Given the description of an element on the screen output the (x, y) to click on. 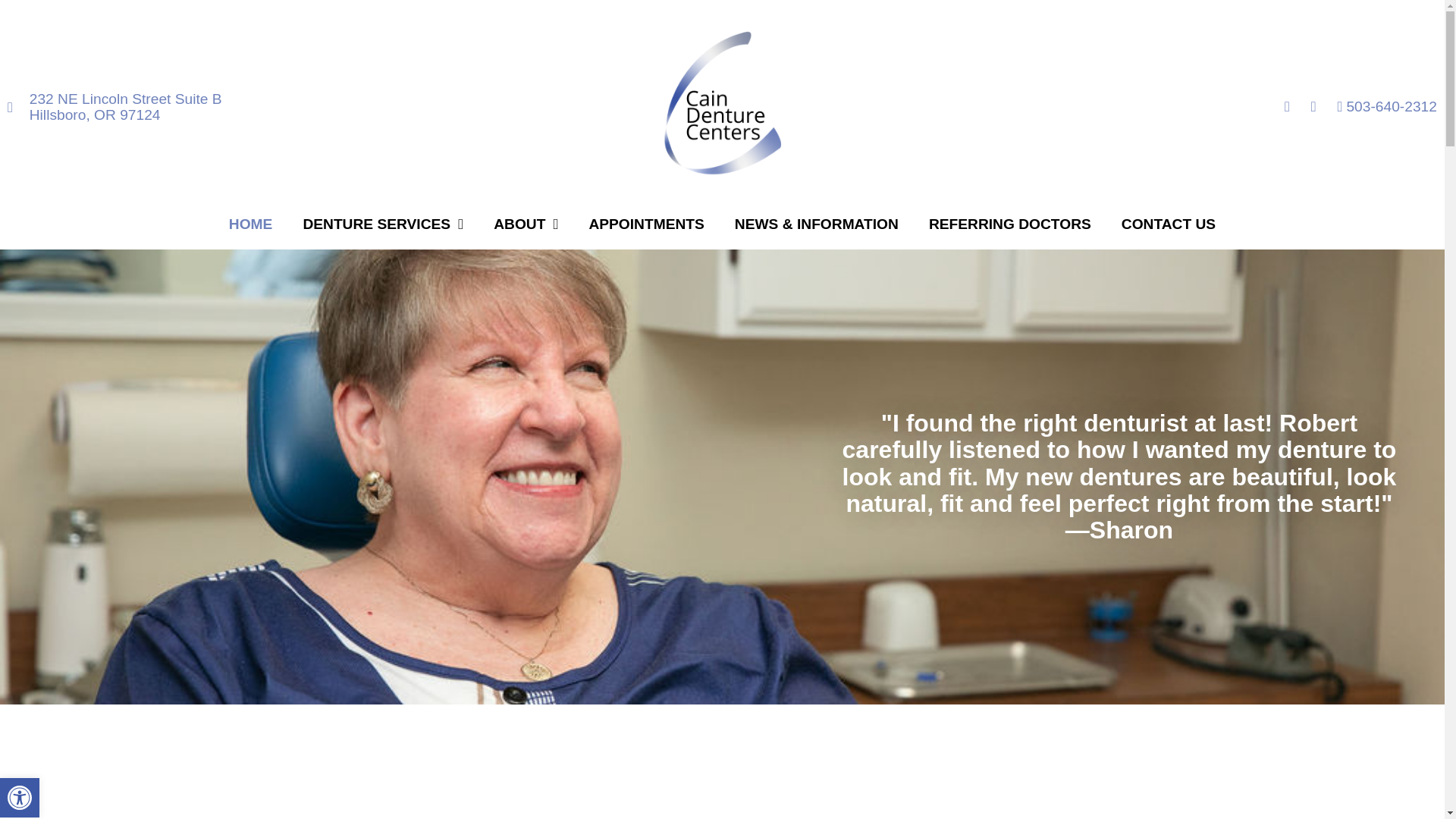
CONTACT US (1168, 223)
Accessibility Tools (19, 797)
REFERRING DOCTORS (1010, 223)
503-640-2312 (1380, 106)
HOME (251, 223)
ABOUT (526, 223)
Accessibility Tools (19, 797)
DENTURE SERVICES (382, 223)
APPOINTMENTS (646, 223)
